Given the description of an element on the screen output the (x, y) to click on. 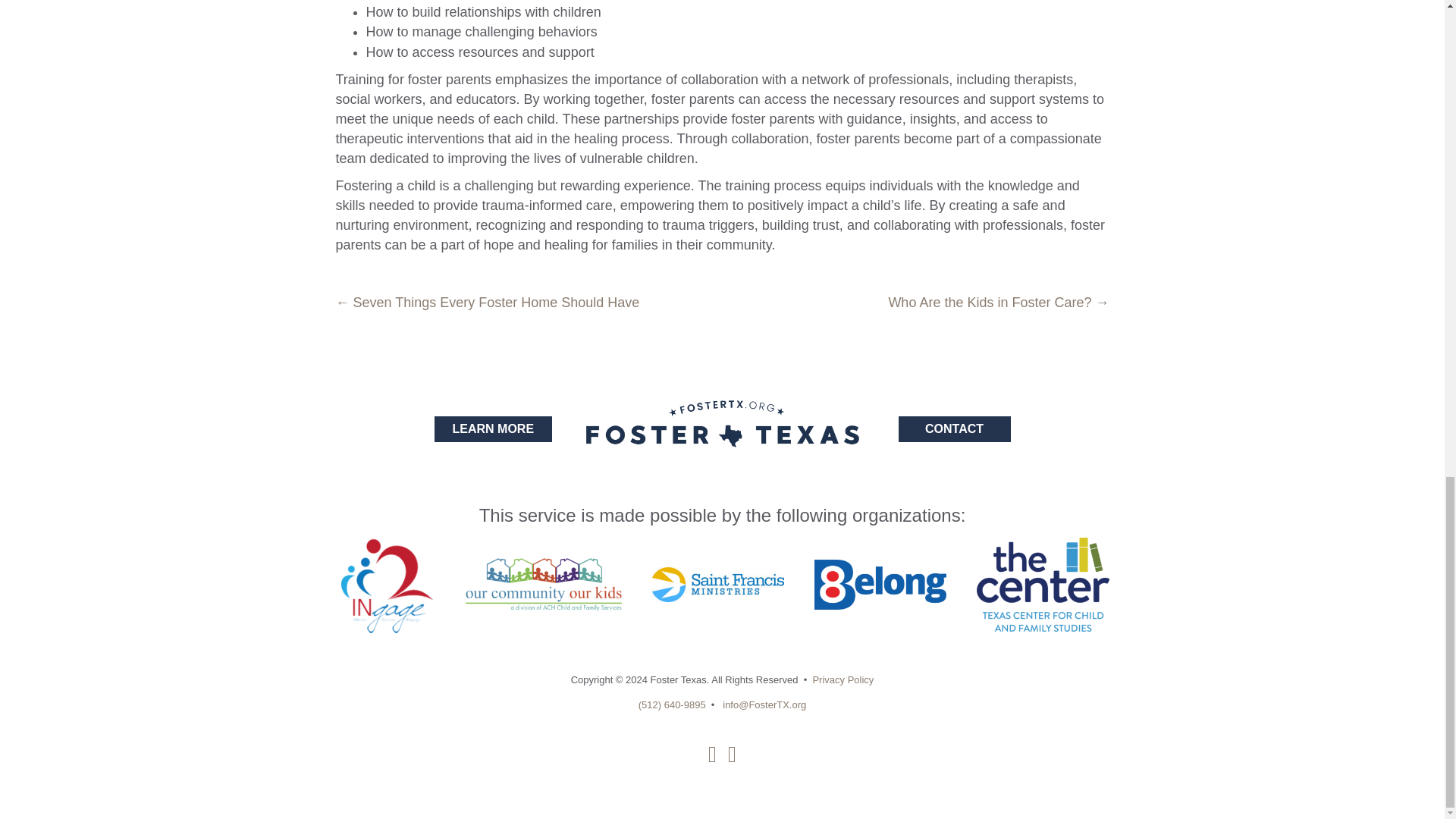
thumbnail-1 (1042, 584)
Privacy Policy (842, 679)
LEARN MORE (492, 428)
thumbnail (879, 584)
CONTACT (954, 428)
logo-foster-texas (722, 423)
thumbnail-2 (384, 584)
